Given the description of an element on the screen output the (x, y) to click on. 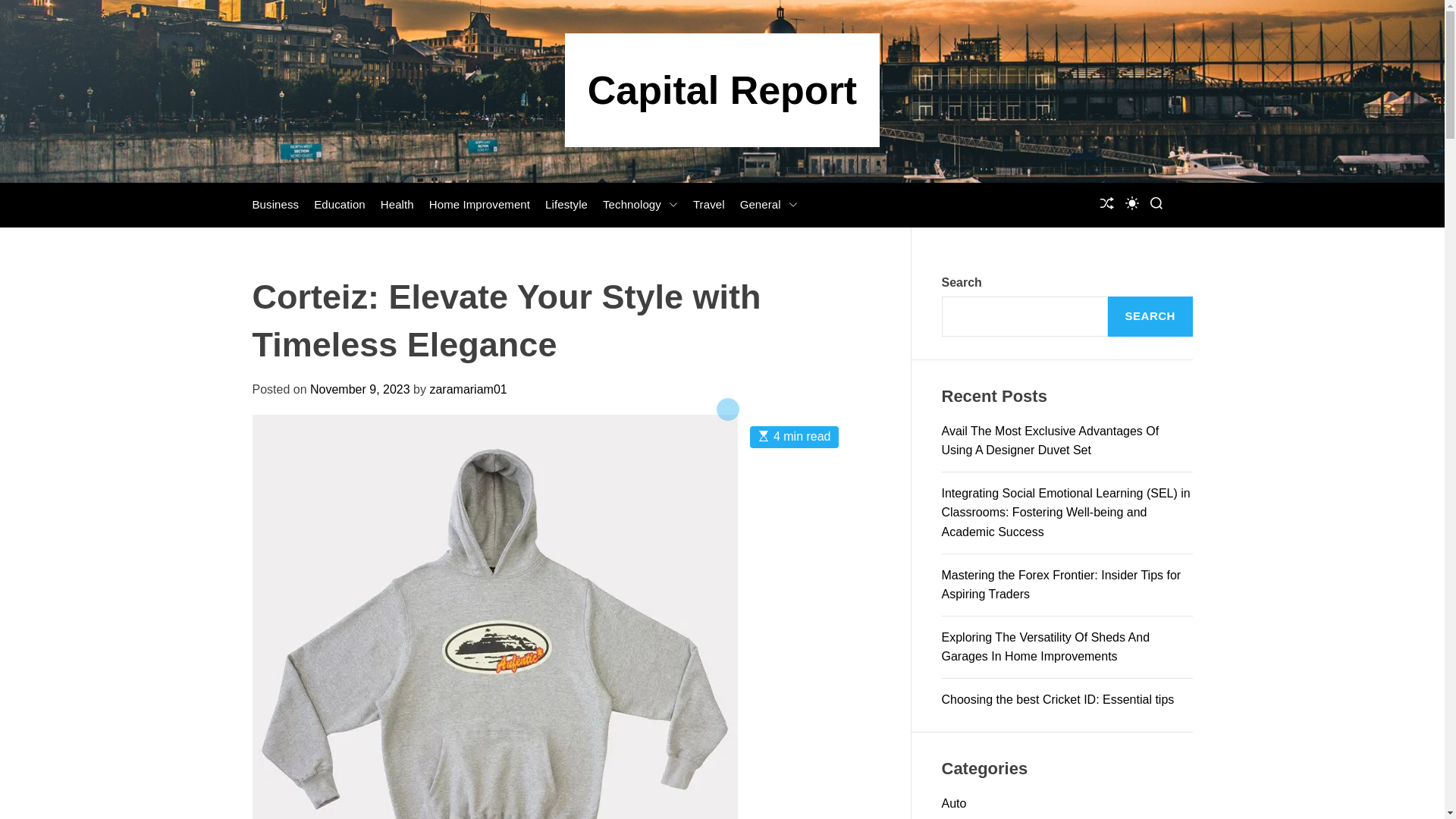
Home Improvement (479, 204)
SWITCH COLOR MODE (1131, 202)
November 9, 2023 (360, 389)
Capital Report (722, 89)
Education (339, 204)
zaramariam01 (467, 389)
Business (274, 204)
General (768, 205)
Travel (709, 204)
Health (396, 204)
Technology (640, 205)
Lifestyle (566, 204)
